Given the description of an element on the screen output the (x, y) to click on. 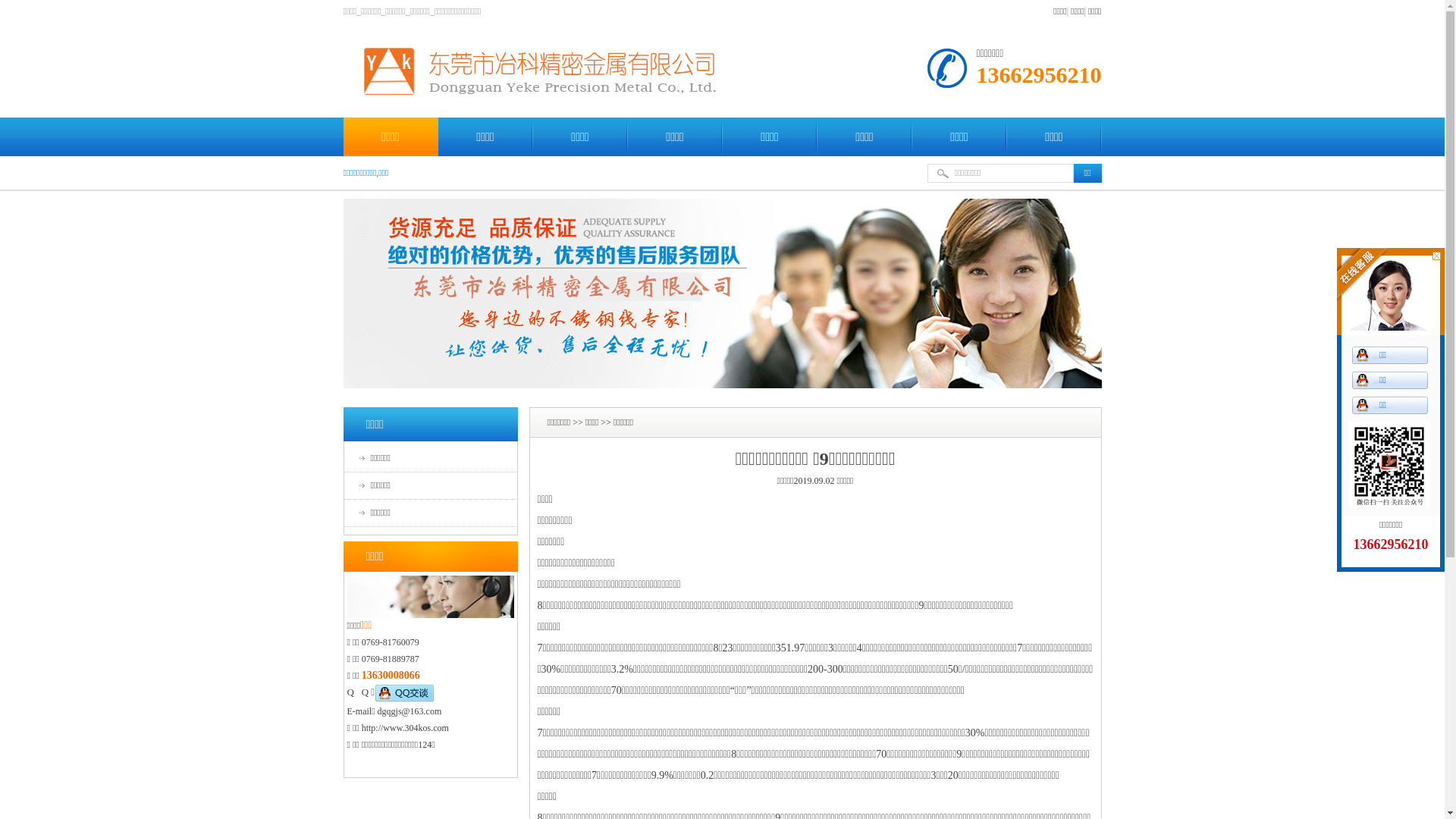
http://www.304kos.com Element type: text (404, 727)
dgqgjs@163.com Element type: text (409, 711)
